Given the description of an element on the screen output the (x, y) to click on. 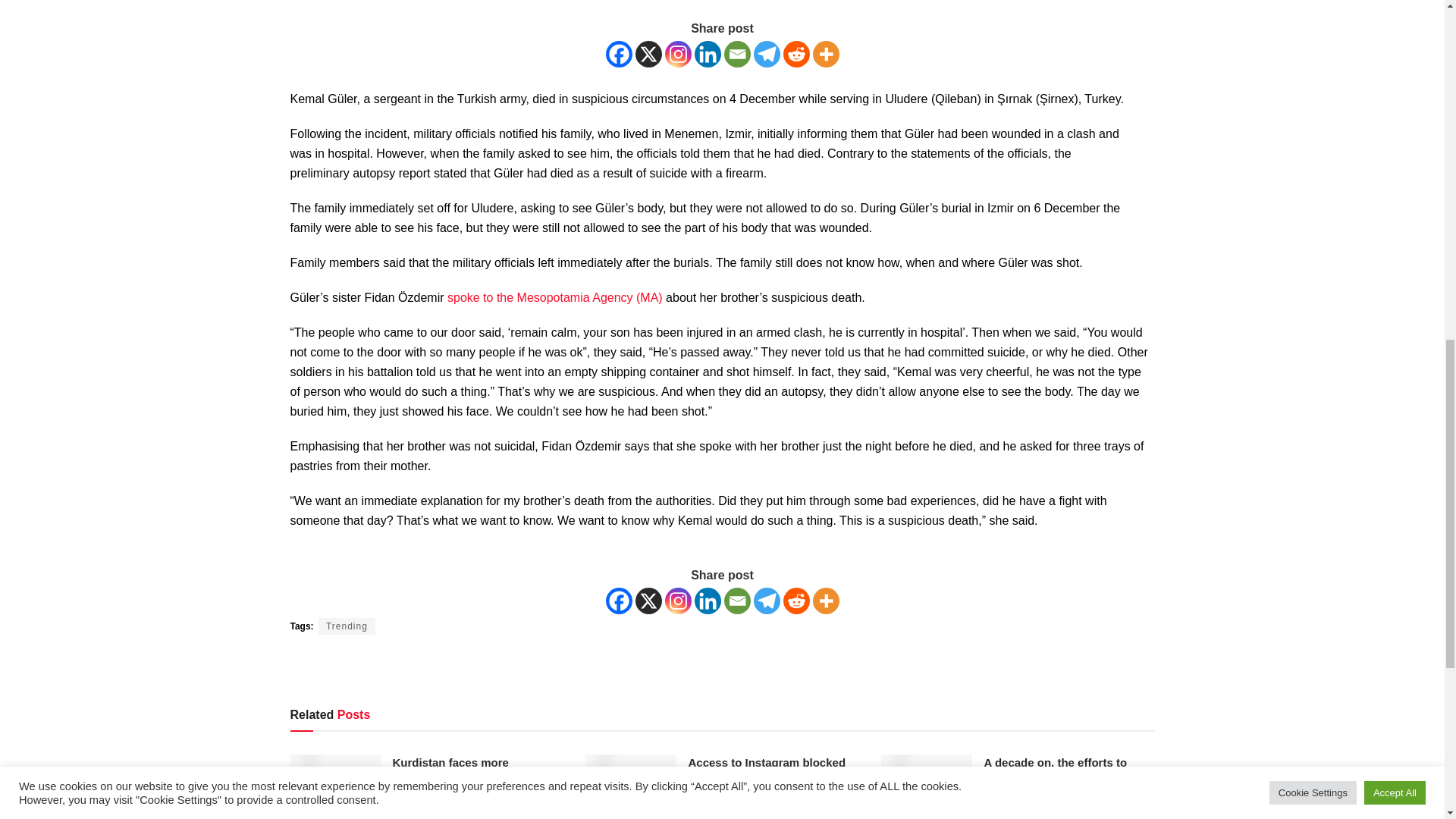
X (648, 601)
Reddit (796, 53)
Linkedin (707, 601)
Instagram (676, 53)
Instagram (676, 601)
Linkedin (707, 53)
Facebook (618, 601)
Facebook (618, 53)
Email (736, 601)
X (648, 53)
Telegram (767, 601)
Email (736, 53)
Telegram (767, 53)
More (826, 53)
